Given the description of an element on the screen output the (x, y) to click on. 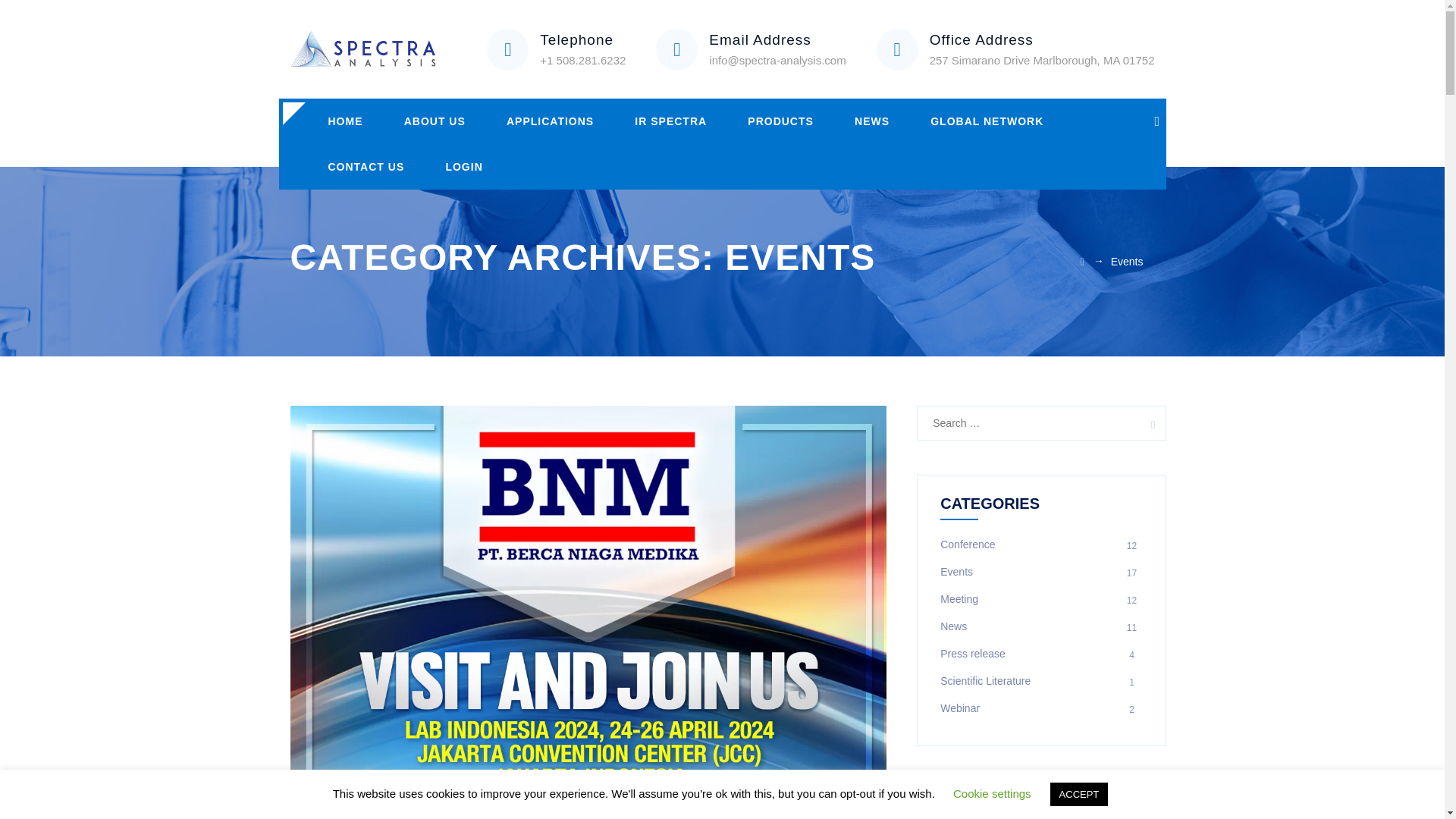
Search (1148, 422)
GLOBAL NETWORK (986, 121)
ABOUT US (434, 121)
Spectra Analysis (362, 49)
PRODUCTS (780, 121)
Search (1148, 422)
HOME (344, 121)
CONTACT US (365, 166)
IR SPECTRA (670, 121)
LOGIN (463, 166)
